Given the description of an element on the screen output the (x, y) to click on. 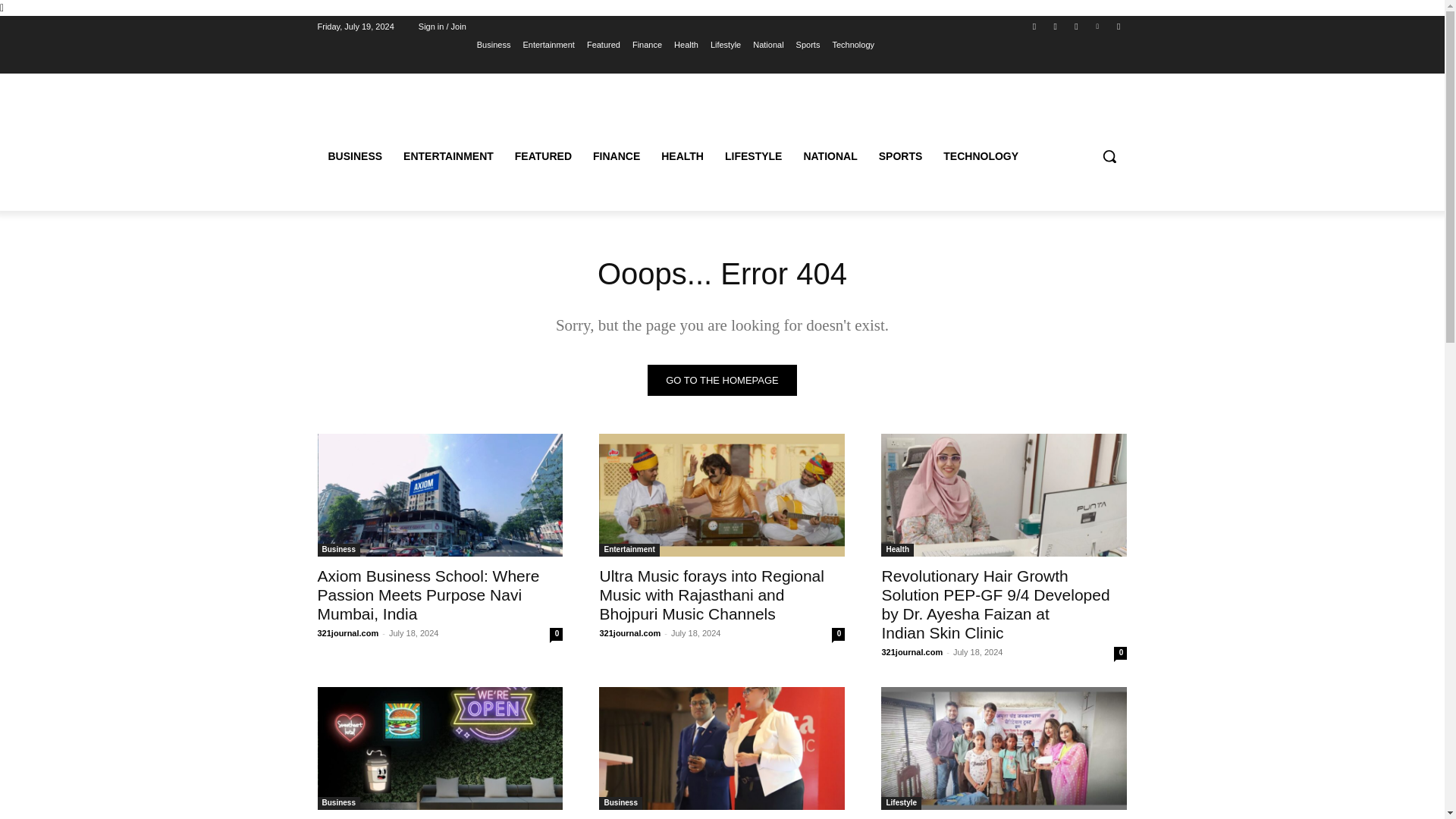
Health (686, 44)
Twitter (1075, 27)
National (767, 44)
HEALTH (682, 156)
Youtube (1117, 27)
Technology (853, 44)
Instagram (1055, 27)
FINANCE (616, 156)
Lifestyle (725, 44)
Facebook (1034, 27)
Finance (646, 44)
Vimeo (1097, 27)
BUSINESS (355, 156)
